Given the description of an element on the screen output the (x, y) to click on. 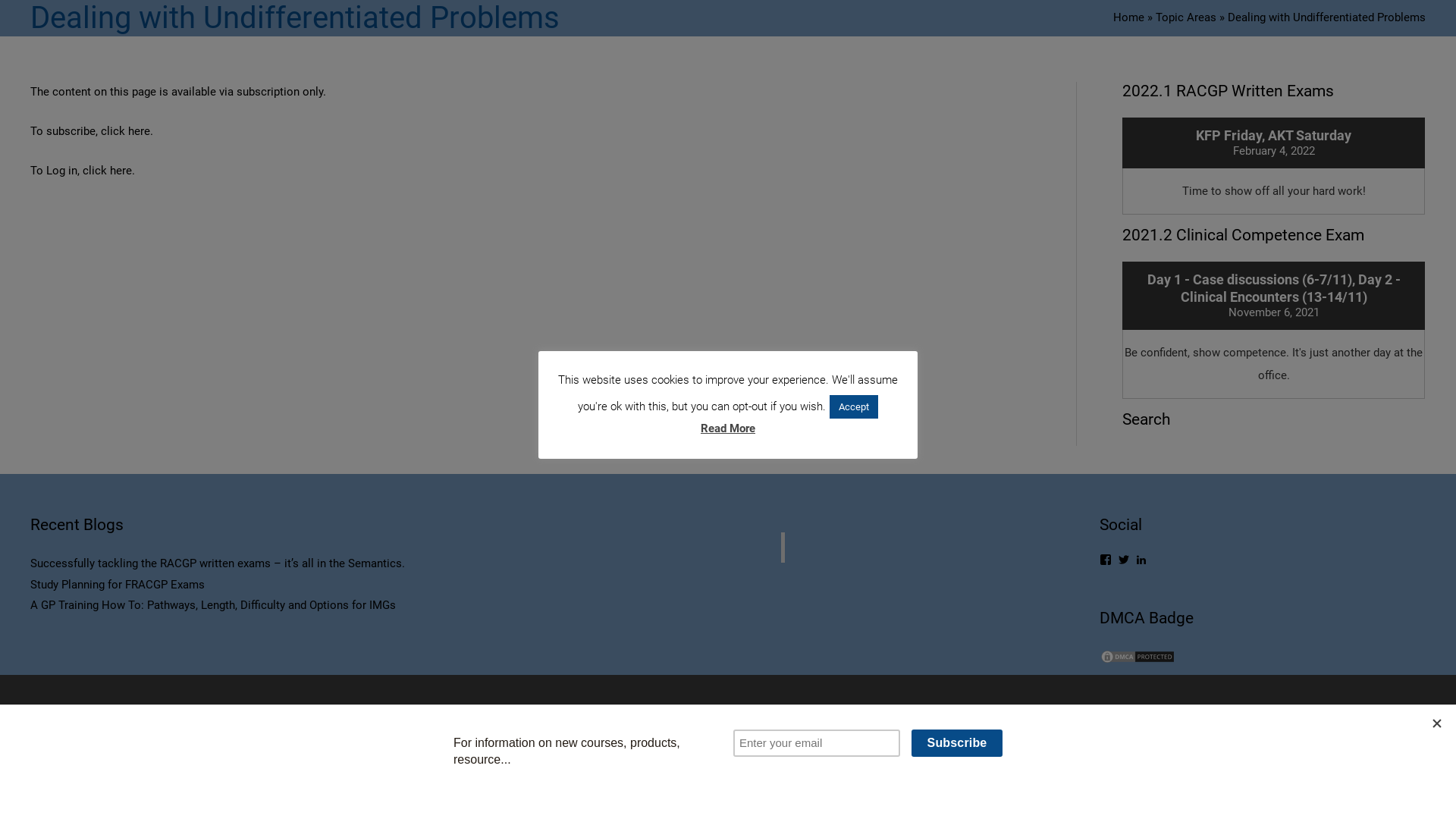
Topic Areas Element type: text (1187, 17)
click here Element type: text (125, 131)
click here Element type: text (106, 170)
Content Protection by DMCA.com Element type: hover (1137, 655)
Study Planning for FRACGP Exams Element type: text (117, 584)
Home Element type: text (1128, 17)
Read More Element type: text (727, 428)
Accept Element type: text (853, 406)
